Given the description of an element on the screen output the (x, y) to click on. 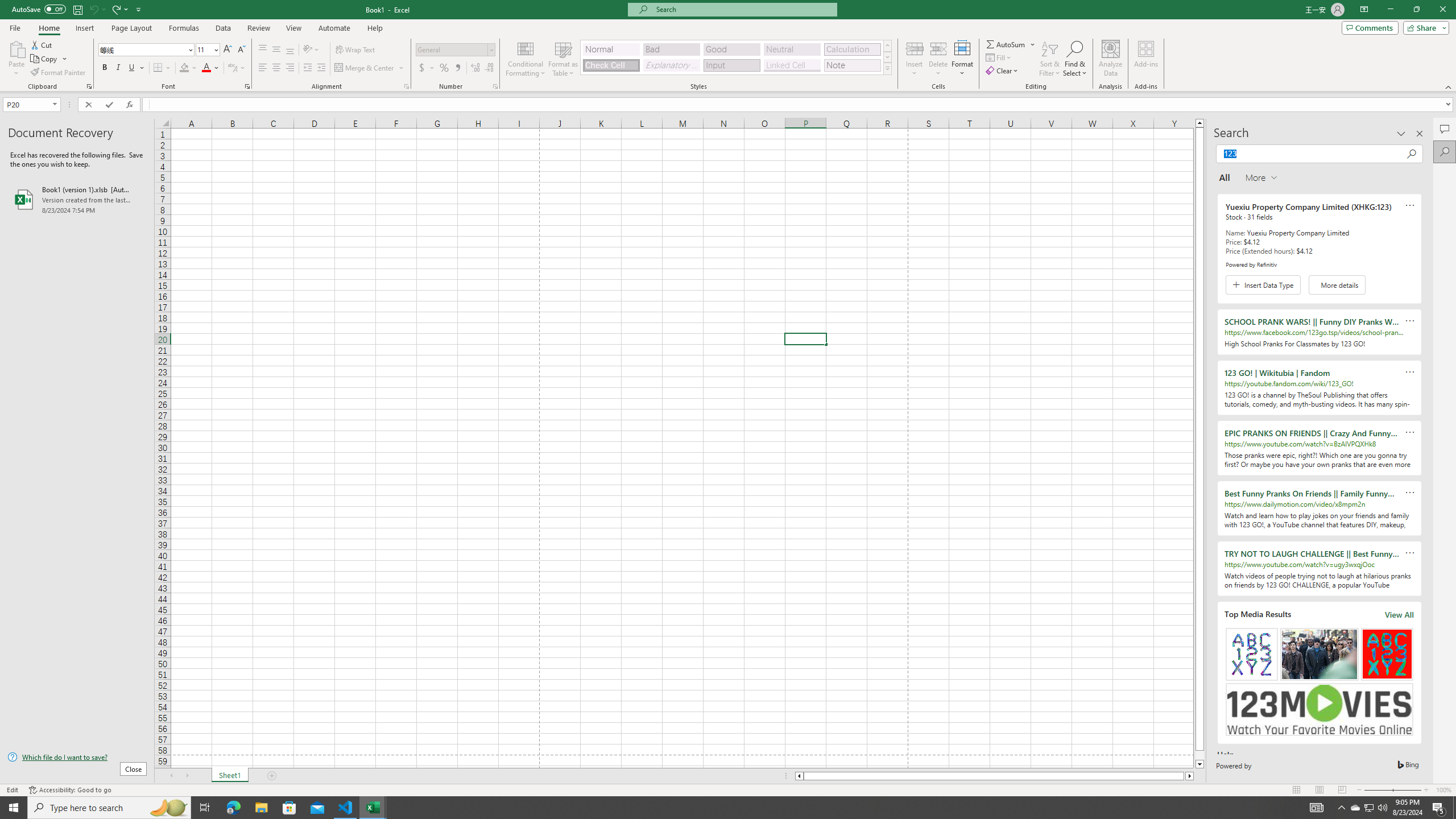
Formula Bar (799, 104)
Save (77, 9)
Wrap Text (355, 49)
Customize Quick Access Toolbar (139, 9)
Page Break Preview (1342, 790)
Underline (136, 67)
Fill (999, 56)
Increase Font Size (227, 49)
Close pane (1419, 133)
Class: MsoCommandBar (728, 45)
View (293, 28)
Analyze Data (1110, 58)
Class: NetUIImage (887, 68)
Row up (887, 45)
